Given the description of an element on the screen output the (x, y) to click on. 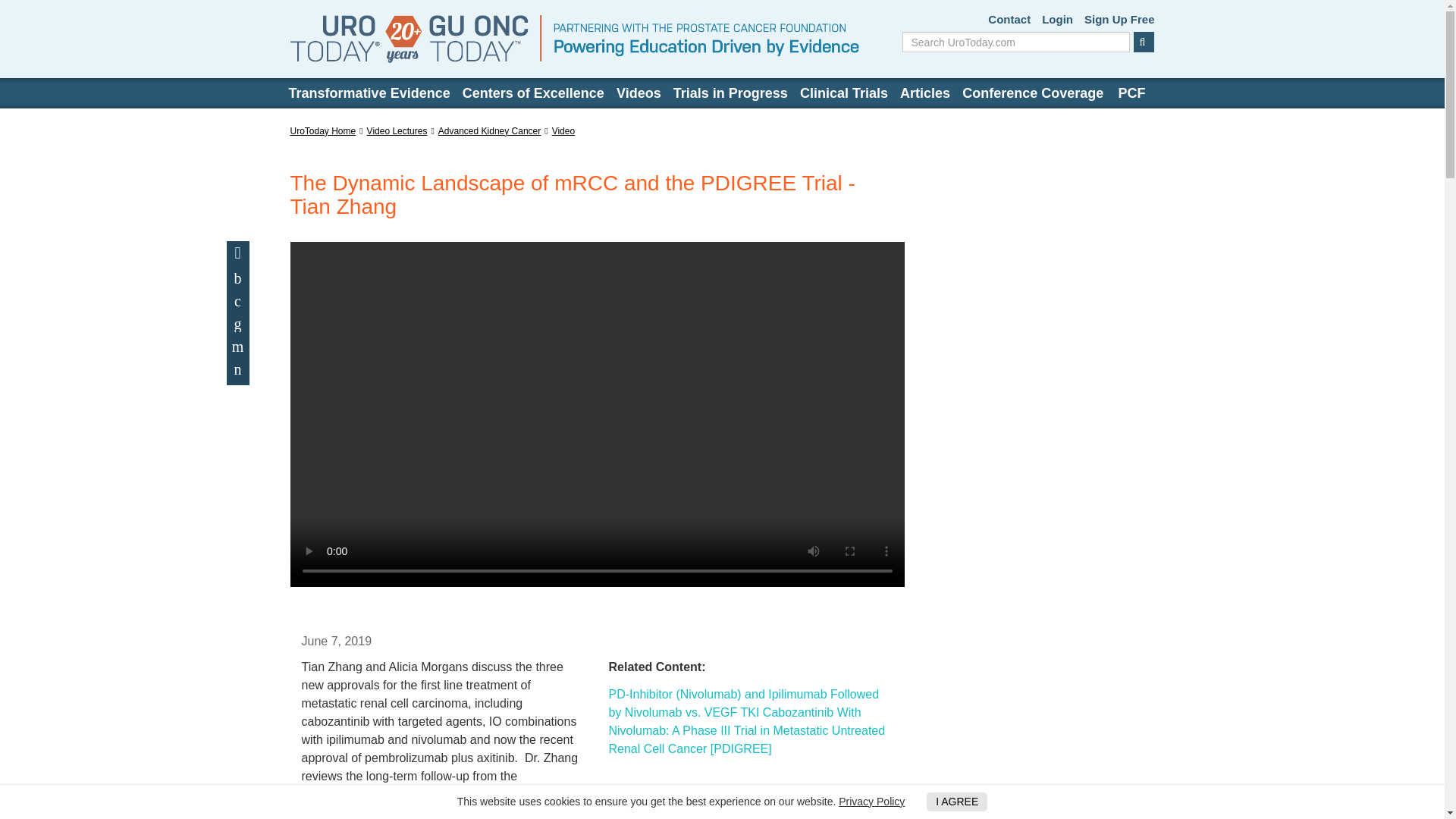
UroToday (574, 39)
I AGREE (956, 801)
Privacy Policy (871, 801)
Sign Up Free (1119, 19)
Login (1057, 19)
Contact (1009, 19)
